Given the description of an element on the screen output the (x, y) to click on. 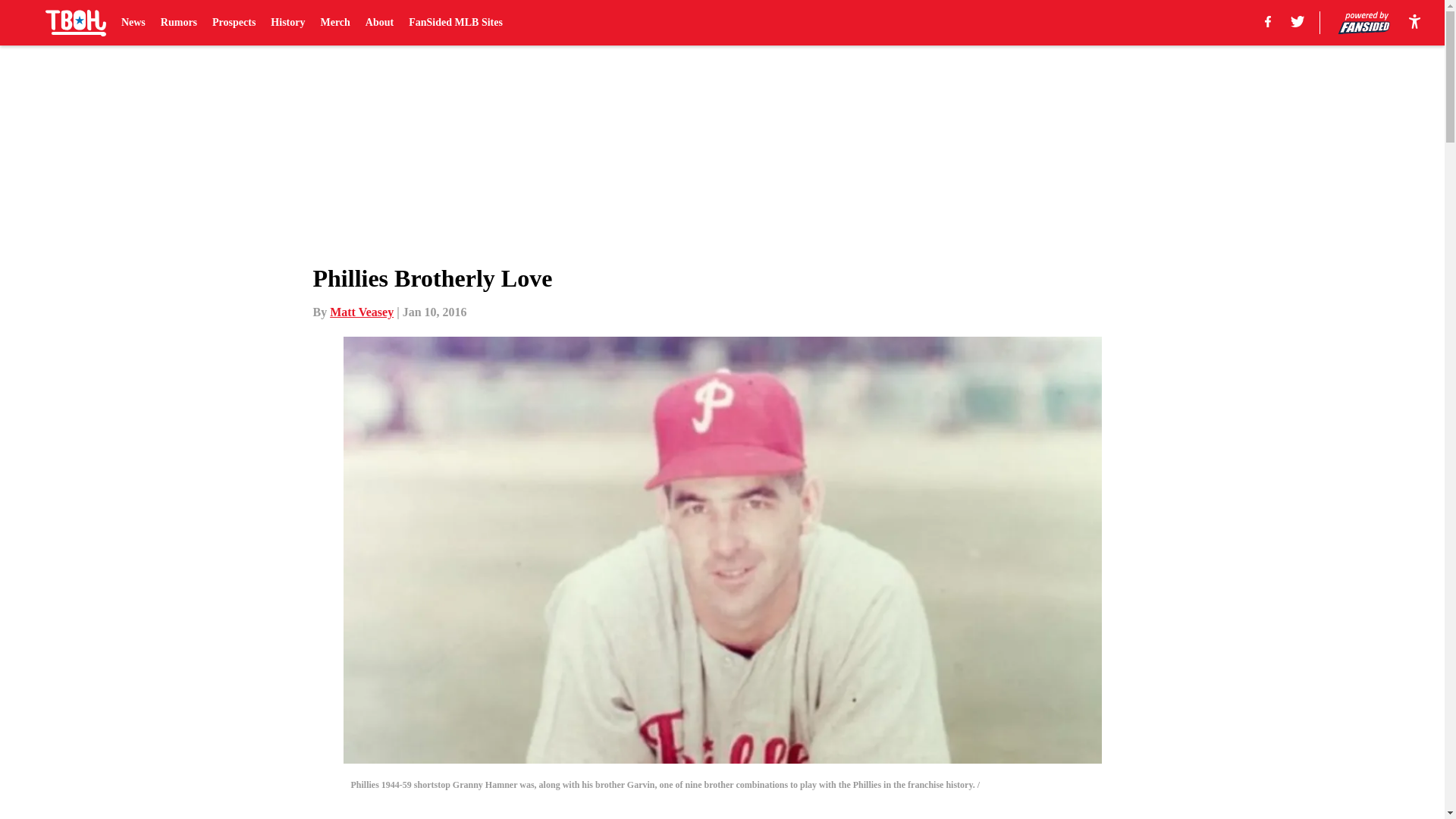
Prospects (234, 22)
Rumors (178, 22)
FanSided MLB Sites (455, 22)
News (132, 22)
About (379, 22)
Merch (334, 22)
Matt Veasey (361, 311)
History (287, 22)
